Given the description of an element on the screen output the (x, y) to click on. 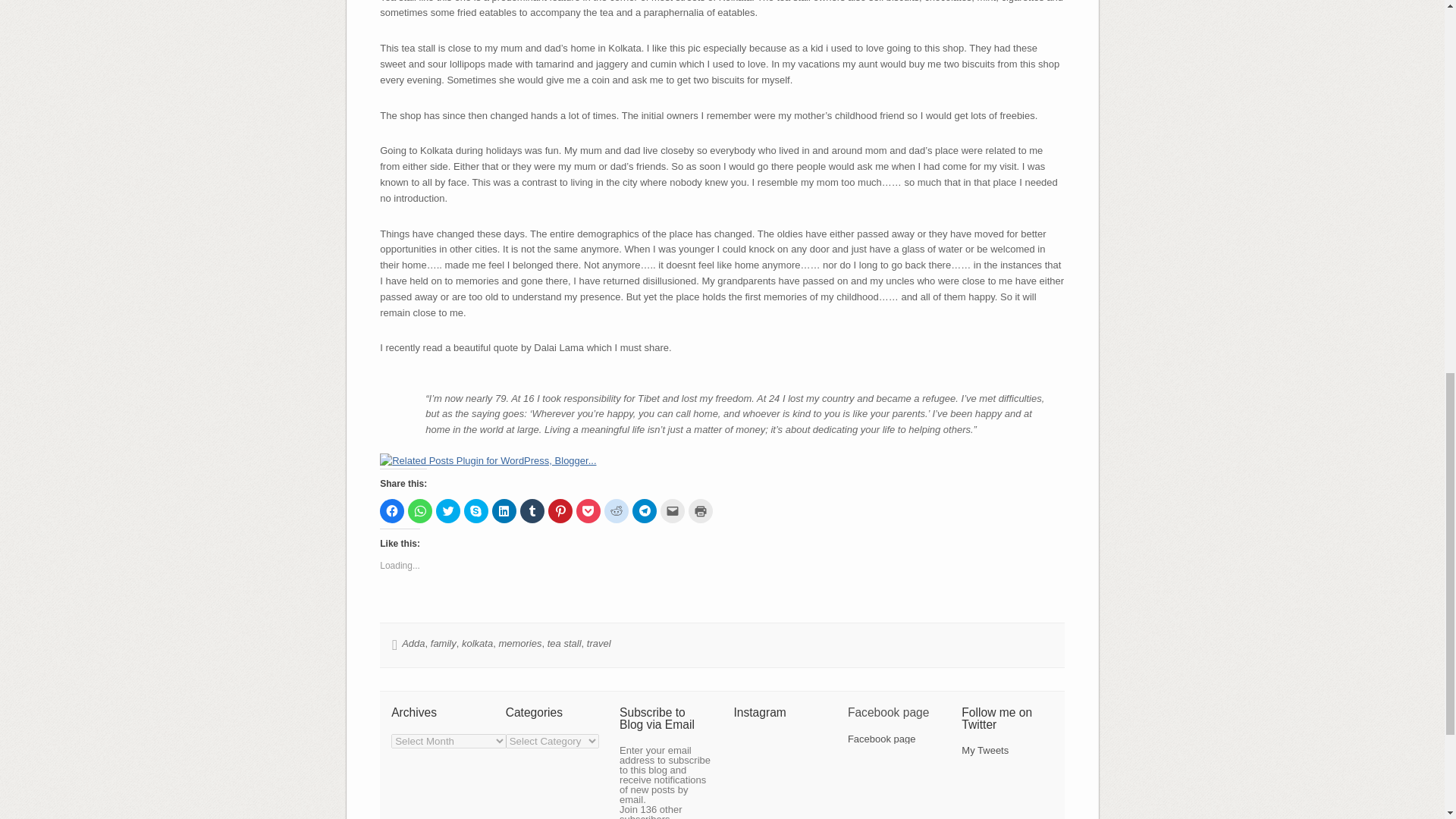
My Tweets (984, 749)
Click to share on Telegram (643, 510)
Click to share on LinkedIn (504, 510)
Click to share on Pinterest (560, 510)
Adda (413, 643)
Click to share on Tumblr (531, 510)
travel (598, 643)
tea stall (563, 643)
Click to email this to a friend (672, 510)
Click to share on Skype (475, 510)
